Given the description of an element on the screen output the (x, y) to click on. 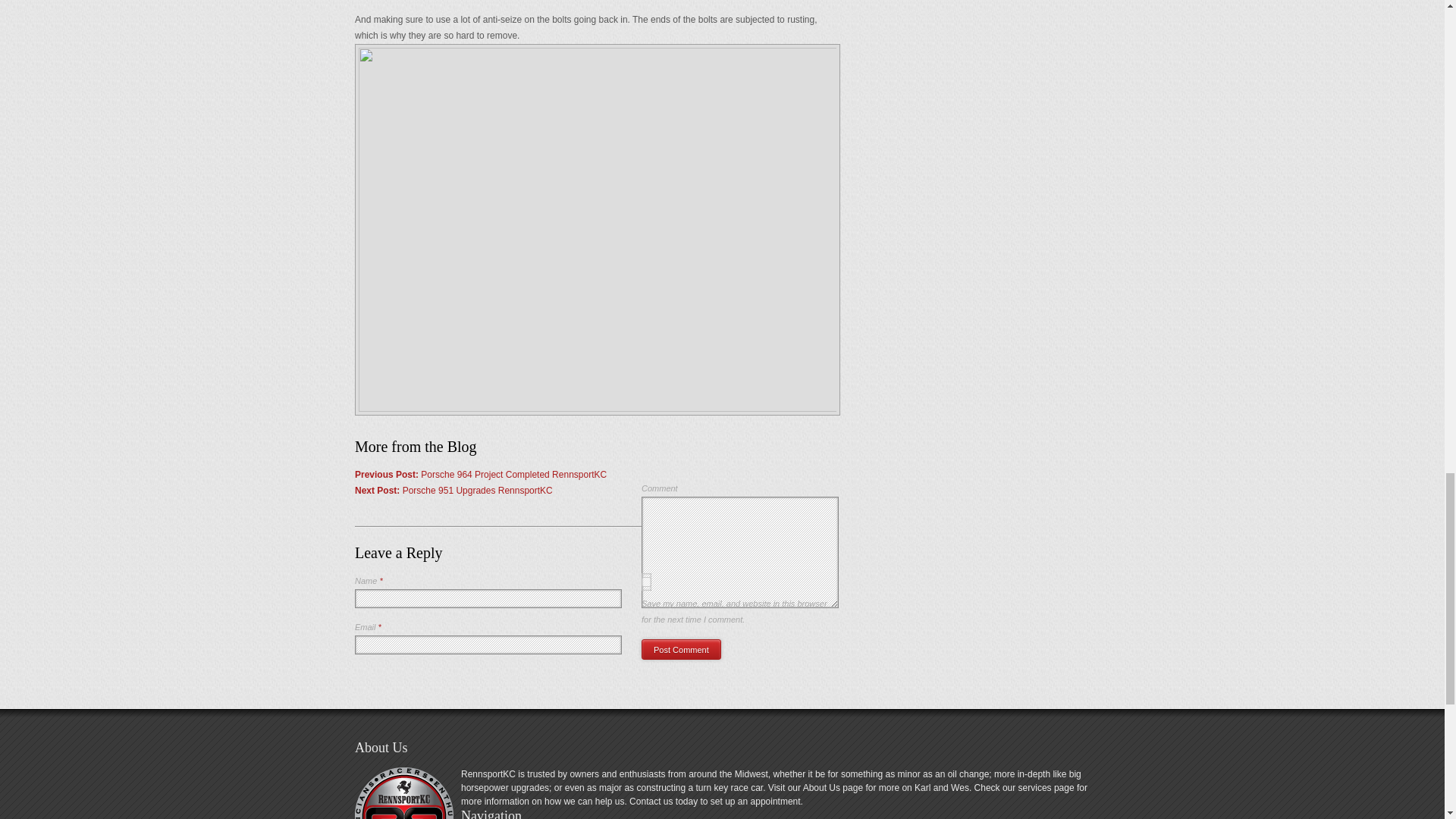
Post Comment (681, 649)
Post Comment (681, 649)
Next Post: Porsche 951 Upgrades RennsportKC (454, 490)
Previous Post: Porsche 964 Project Completed RennsportKC (481, 474)
